Given the description of an element on the screen output the (x, y) to click on. 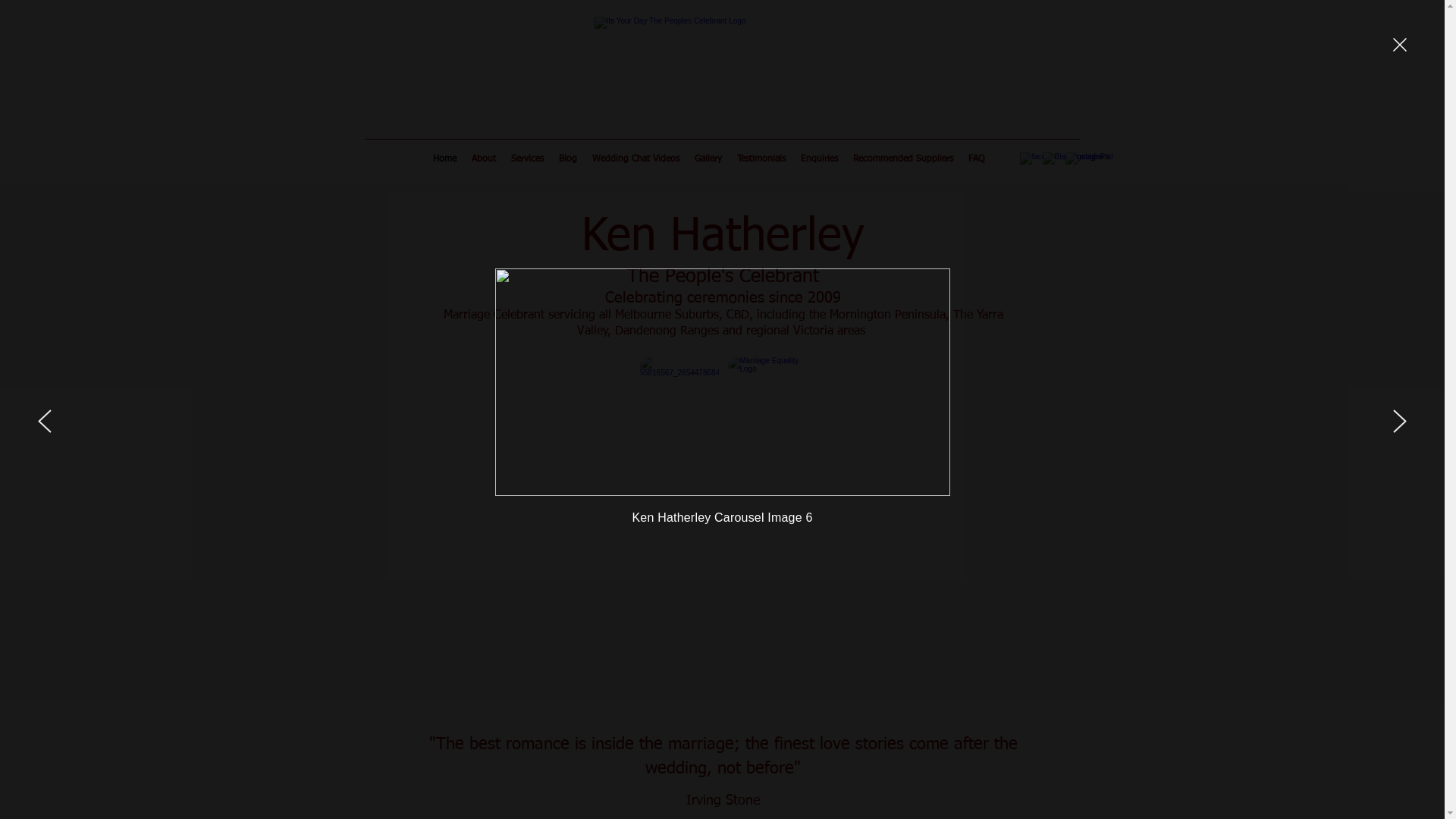
Mornington Peninsula Weddings Facebook Page Element type: hover (679, 395)
Marriage Equality Logo Element type: hover (767, 395)
Enquiries Element type: text (819, 158)
Recommended Suppliers Element type: text (902, 158)
FAQ Element type: text (975, 158)
Home Element type: text (444, 158)
Wedding Chat Videos Element type: text (635, 158)
Testimonials Element type: text (761, 158)
Gallery Element type: text (708, 158)
It's Your Day Ceremonies Logo Element type: hover (720, 70)
About Element type: text (483, 158)
Services Element type: text (527, 158)
Blog Element type: text (567, 158)
